Given the description of an element on the screen output the (x, y) to click on. 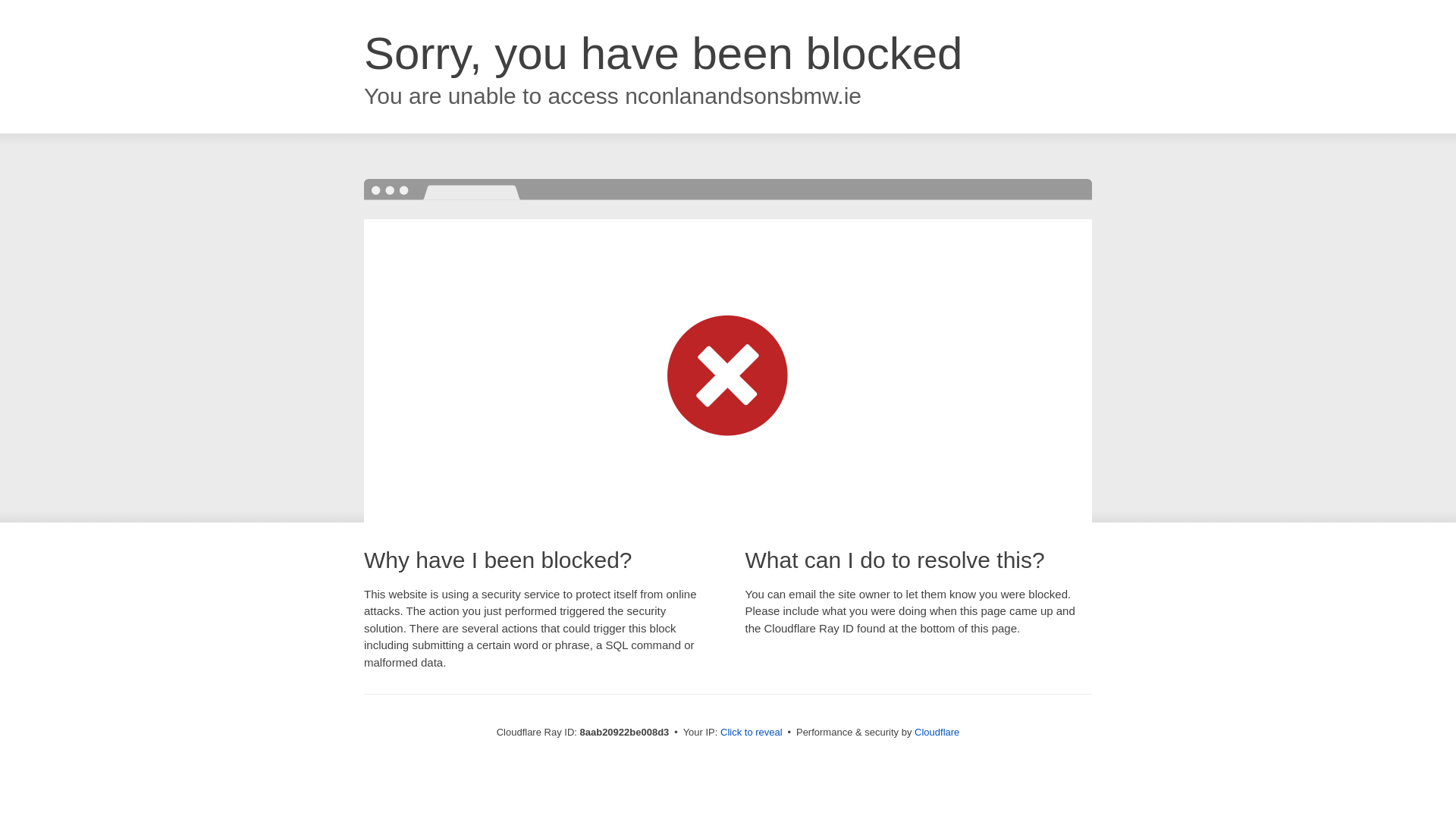
Click to reveal (751, 732)
Cloudflare (936, 731)
